Given the description of an element on the screen output the (x, y) to click on. 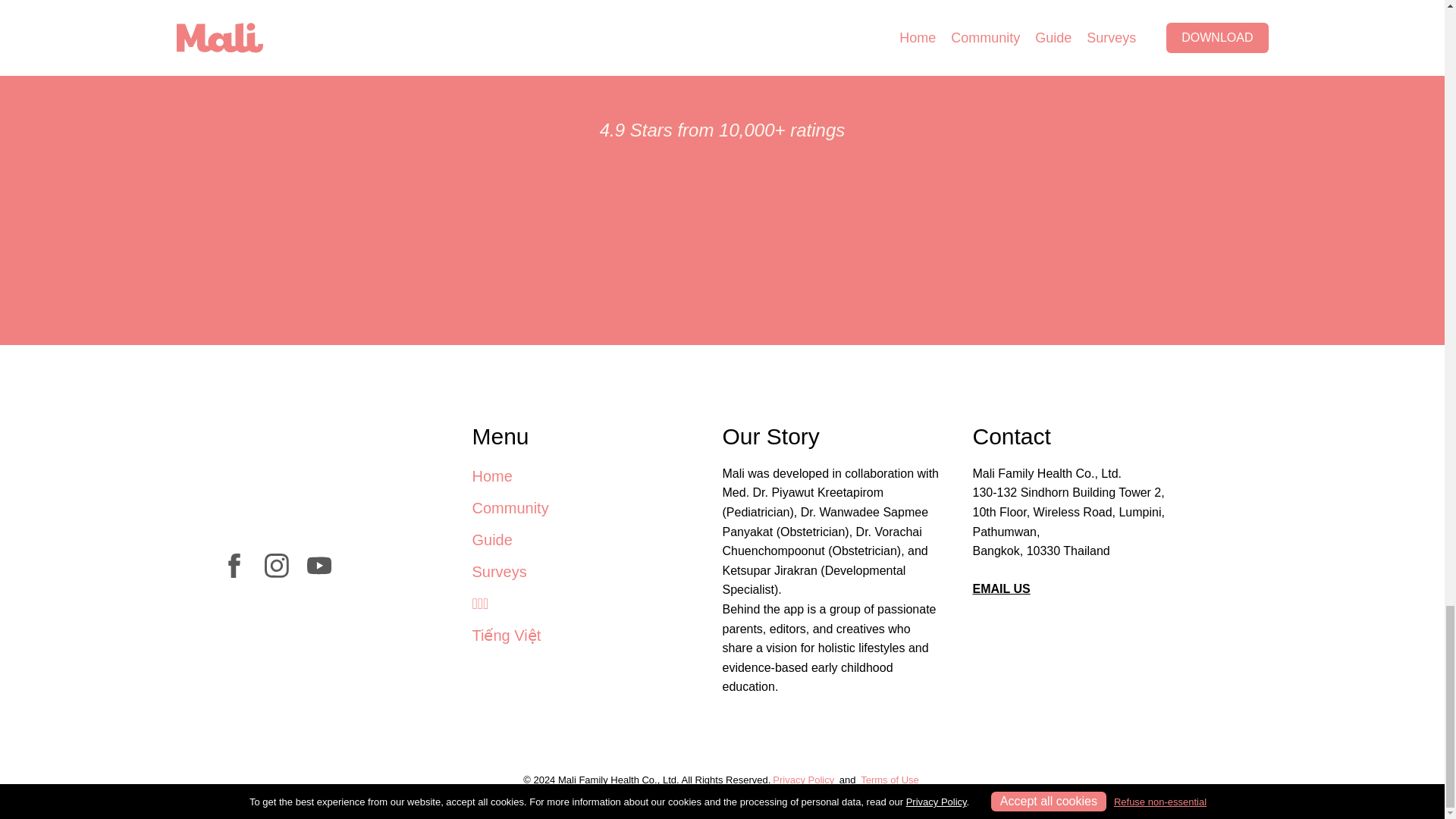
Surveys (498, 571)
Follow Mali on Youtube (317, 573)
Follow Mali on Instagram (275, 573)
Follow Mali on Facebook (233, 573)
Guide (491, 539)
Community (509, 507)
Home (491, 475)
Privacy Policy (802, 779)
EMAIL US (1000, 588)
Terms of Use (890, 779)
